Given the description of an element on the screen output the (x, y) to click on. 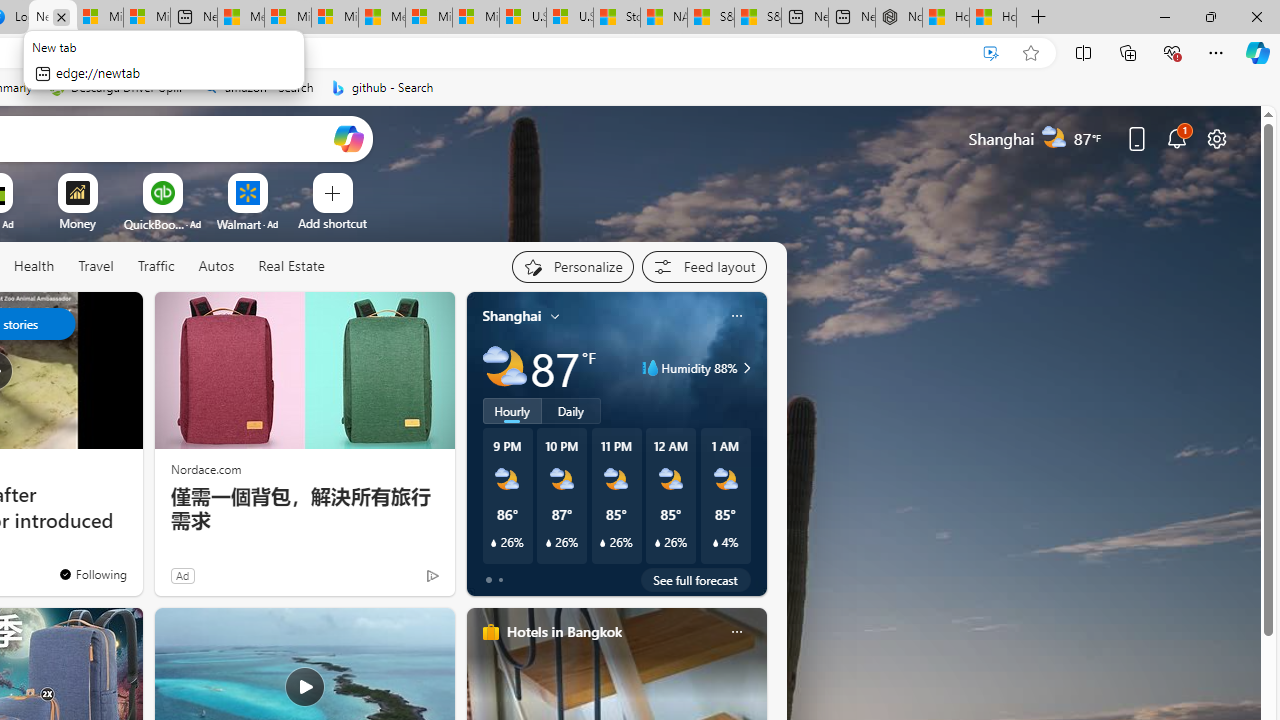
Hide this story (82, 315)
Humidity 88% (744, 367)
Enhance video (991, 53)
Real Estate (290, 267)
Nordace.com (205, 468)
Add a site (332, 223)
hotels-header-icon (490, 632)
Travel (95, 265)
Notifications (1176, 138)
